Given the description of an element on the screen output the (x, y) to click on. 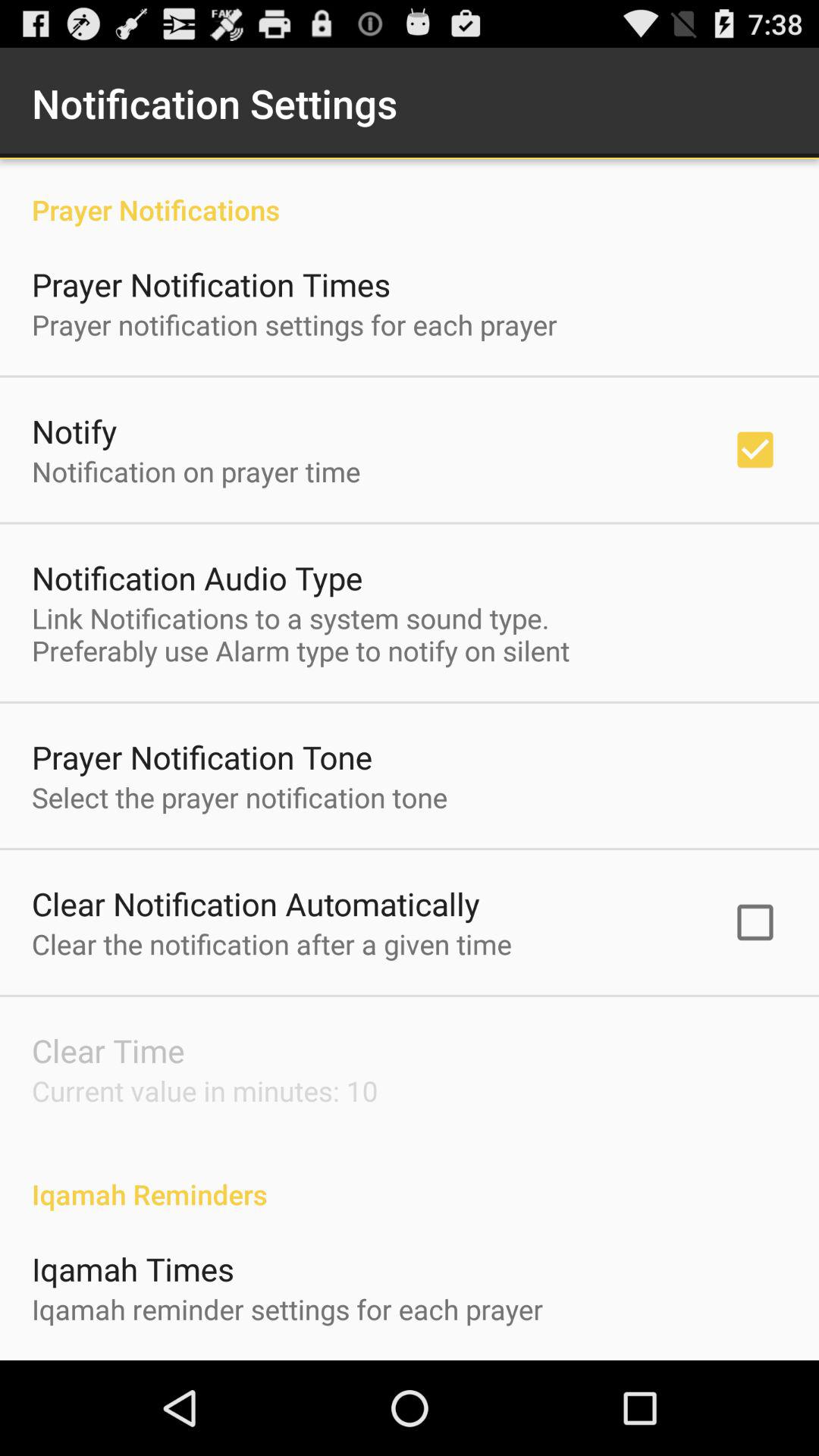
select prayer notifications icon (409, 193)
